Given the description of an element on the screen output the (x, y) to click on. 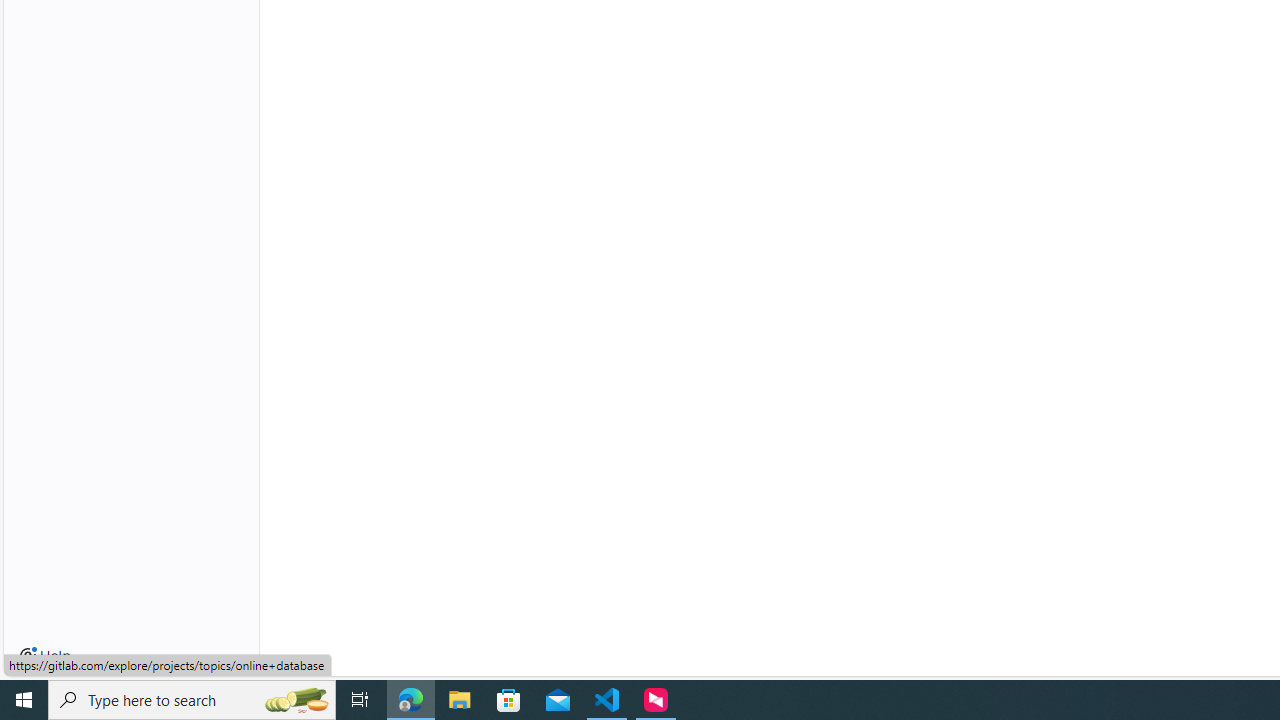
Help (45, 655)
